Given the description of an element on the screen output the (x, y) to click on. 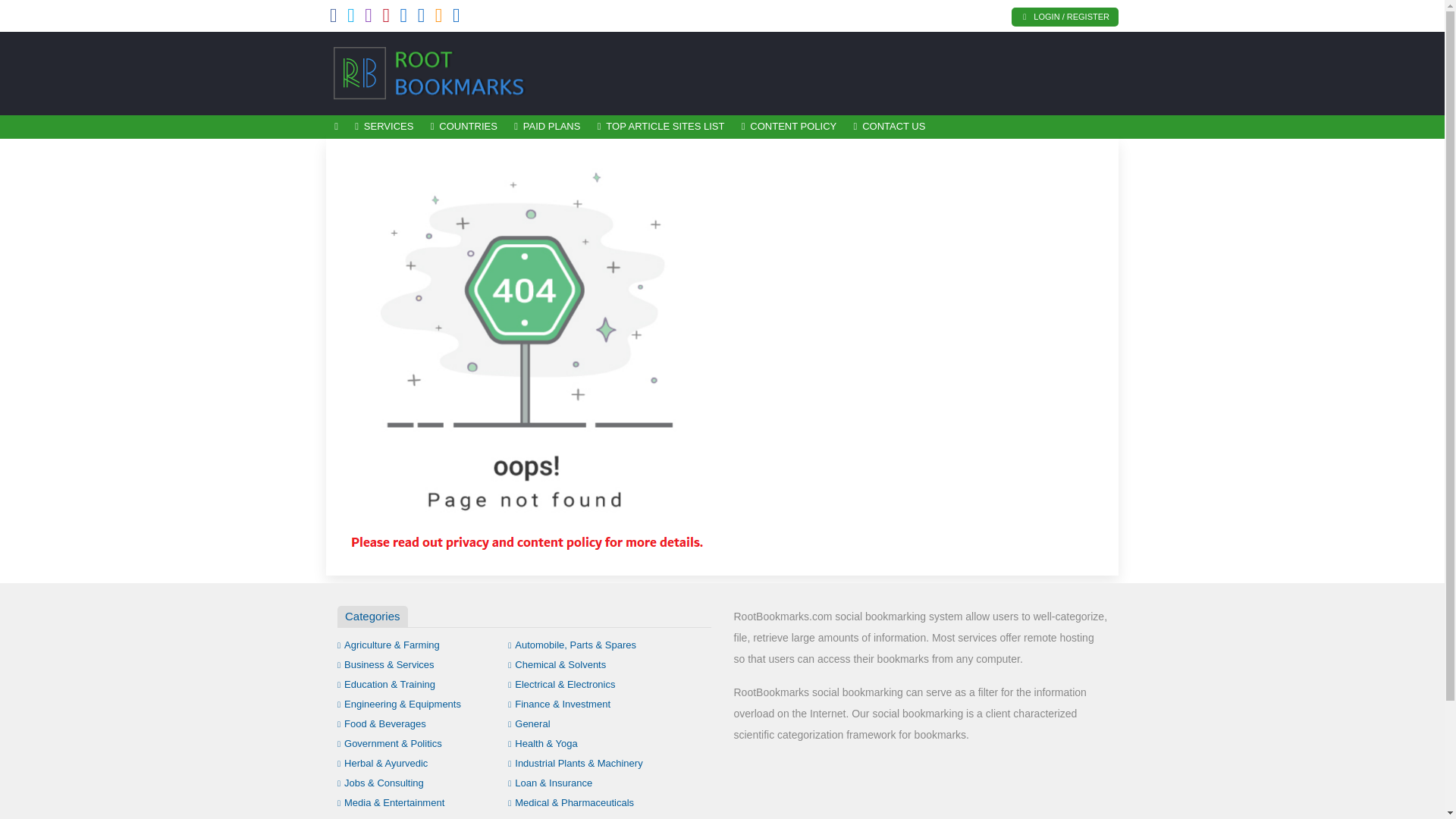
Twitter (351, 18)
CONTACT US (888, 126)
RSS Feed (438, 18)
Pinterest (385, 18)
TOP ARTICLE SITES LIST (661, 126)
PAID PLANS (547, 126)
HOME (336, 126)
CONTENT POLICY (789, 126)
Tumblr (403, 18)
SERVICES (384, 126)
COUNTRIES (463, 126)
Linked In (456, 18)
Facebook (333, 18)
General (529, 723)
